Given the description of an element on the screen output the (x, y) to click on. 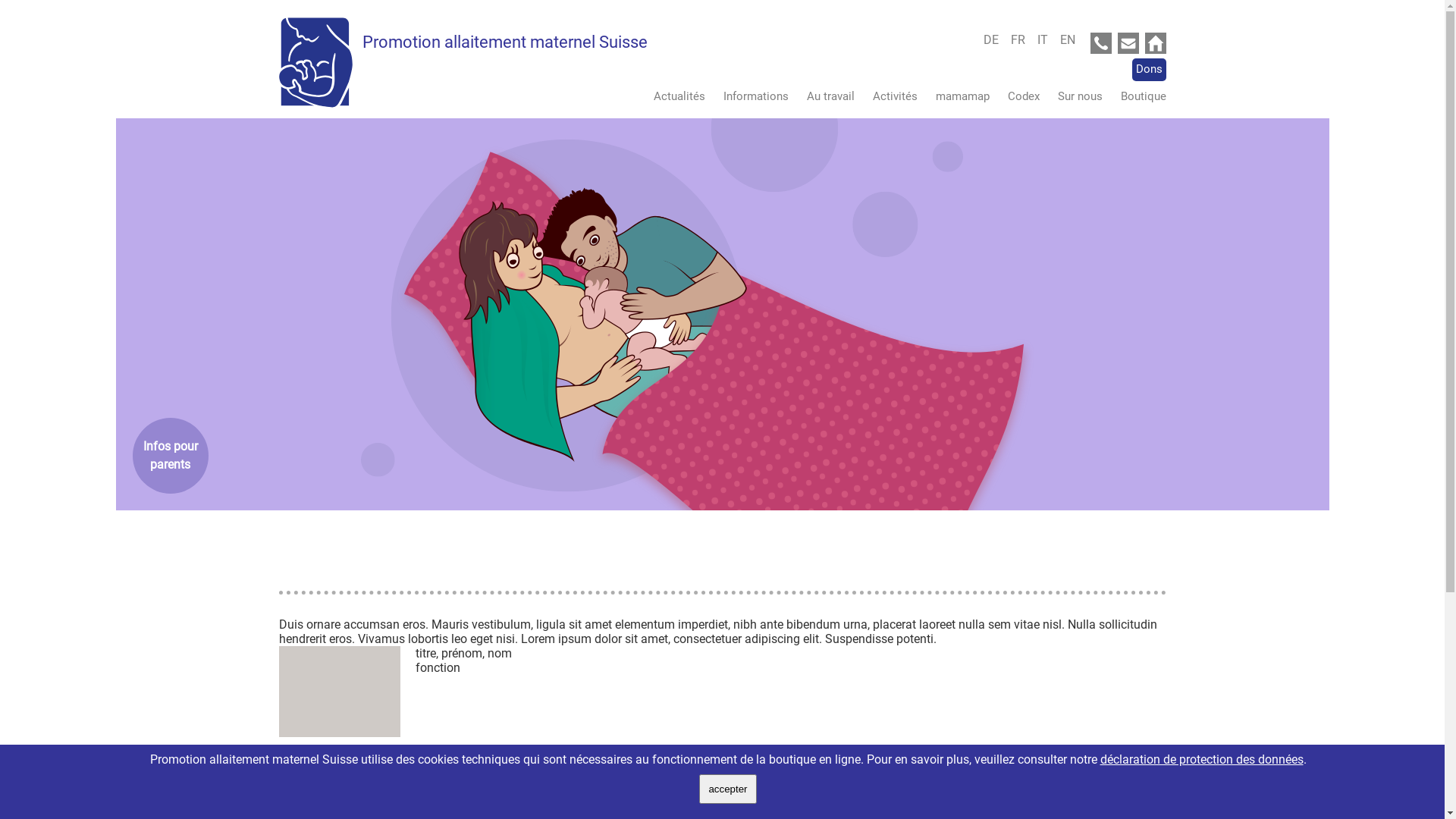
Boutique Element type: text (1135, 95)
mamamap Element type: text (954, 95)
Promotion allaitement maternel Suisse Element type: text (504, 41)
Dons Element type: text (1148, 69)
Sur nous Element type: text (1071, 95)
IT Element type: text (1047, 39)
Codex Element type: text (1014, 95)
DE Element type: text (994, 39)
EN Element type: text (1067, 39)
Infos pour
parents Element type: text (169, 455)
Informations Element type: text (748, 95)
accepter Element type: text (727, 788)
Au travail Element type: text (822, 95)
